Given the description of an element on the screen output the (x, y) to click on. 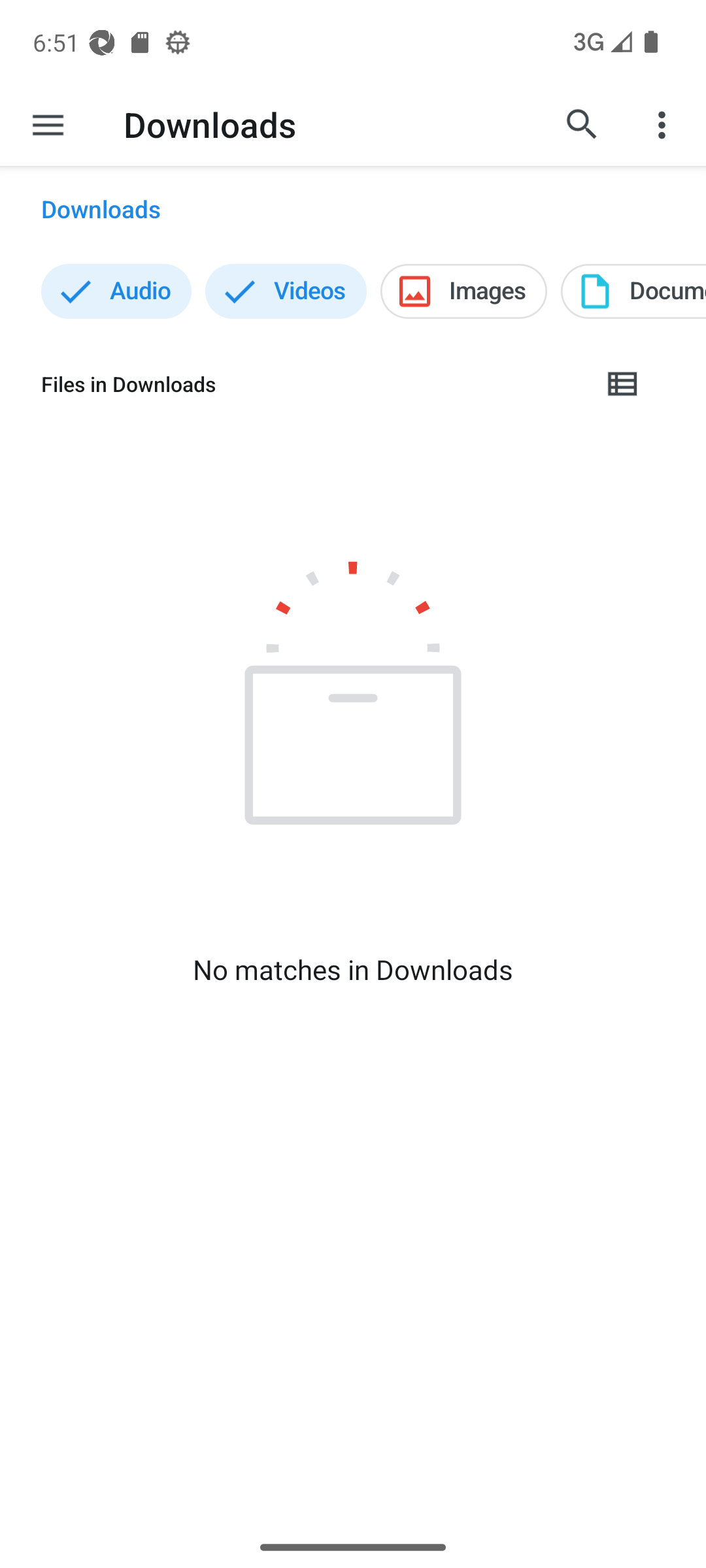
Show roots (48, 124)
Search (581, 124)
More options (664, 124)
Audio (115, 291)
Videos (285, 291)
Images (463, 291)
Documents (633, 291)
List view (623, 383)
